Given the description of an element on the screen output the (x, y) to click on. 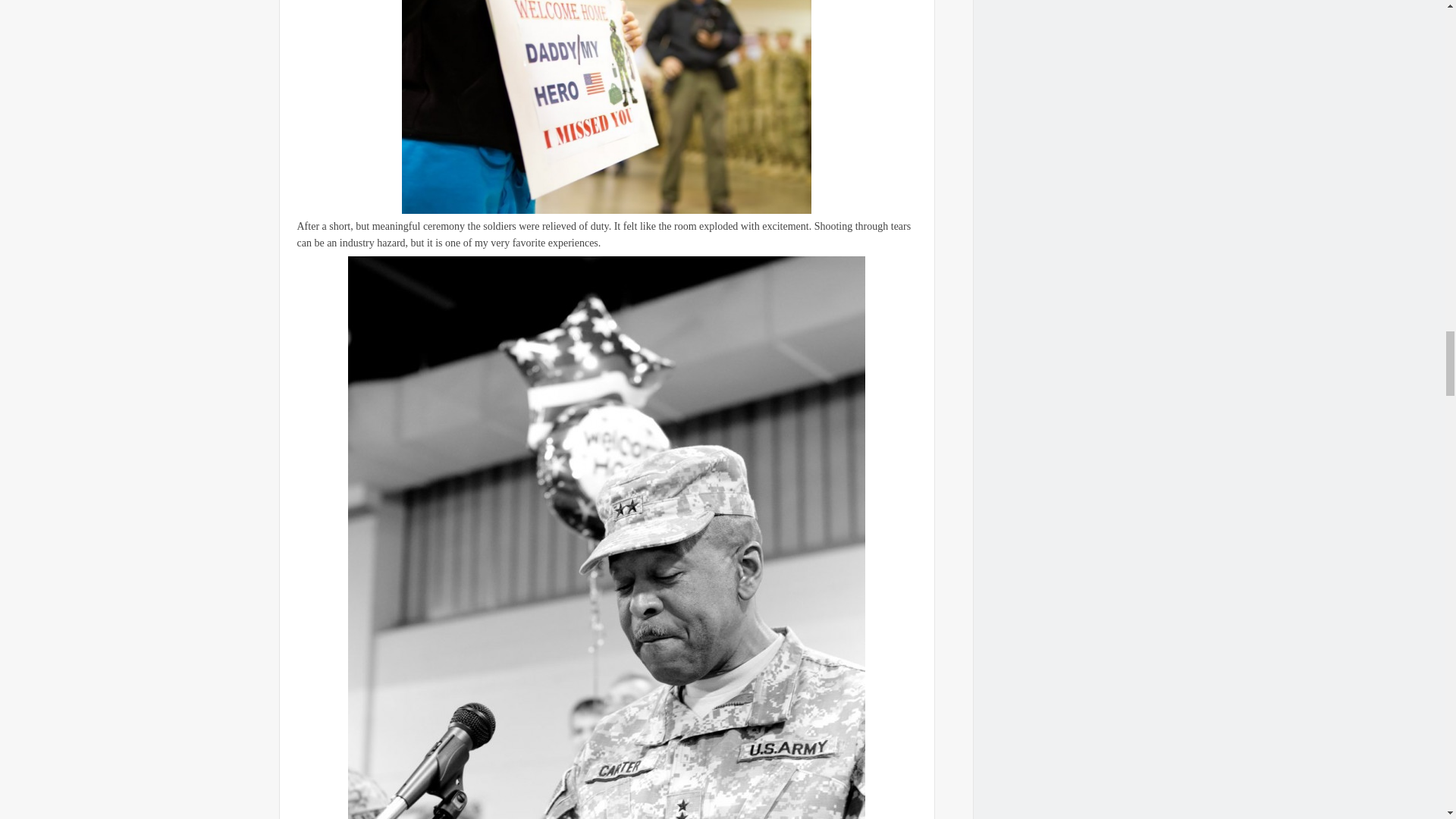
LeeHomecoming-1051 (605, 106)
